Given the description of an element on the screen output the (x, y) to click on. 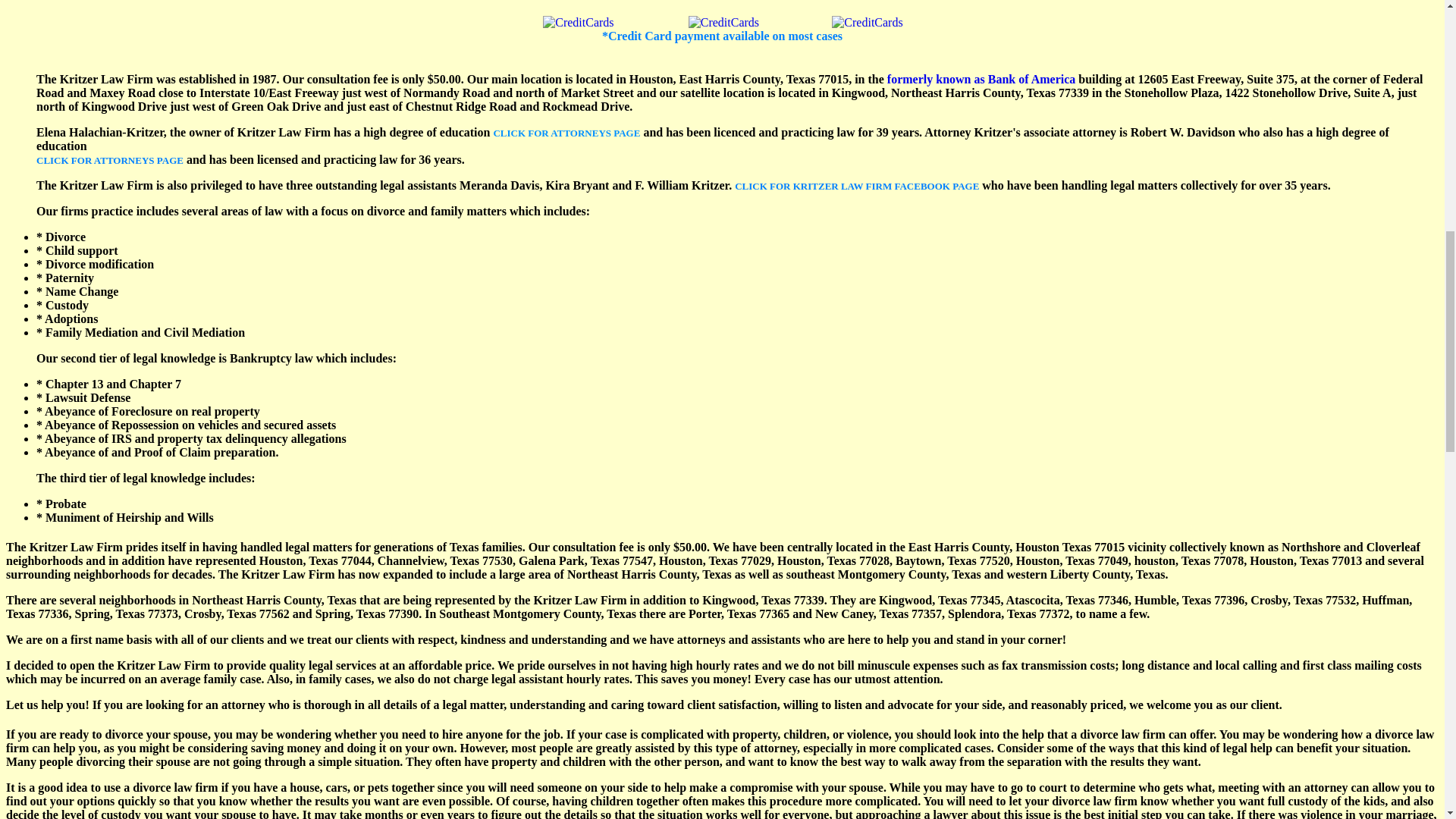
CLICK FOR KRITZER LAW FIRM FACEBOOK PAGE (856, 185)
formerly known as Bank of America (980, 78)
CLICK FOR ATTORNEYS PAGE (109, 159)
CLICK FOR ATTORNEYS PAGE (566, 132)
